Given the description of an element on the screen output the (x, y) to click on. 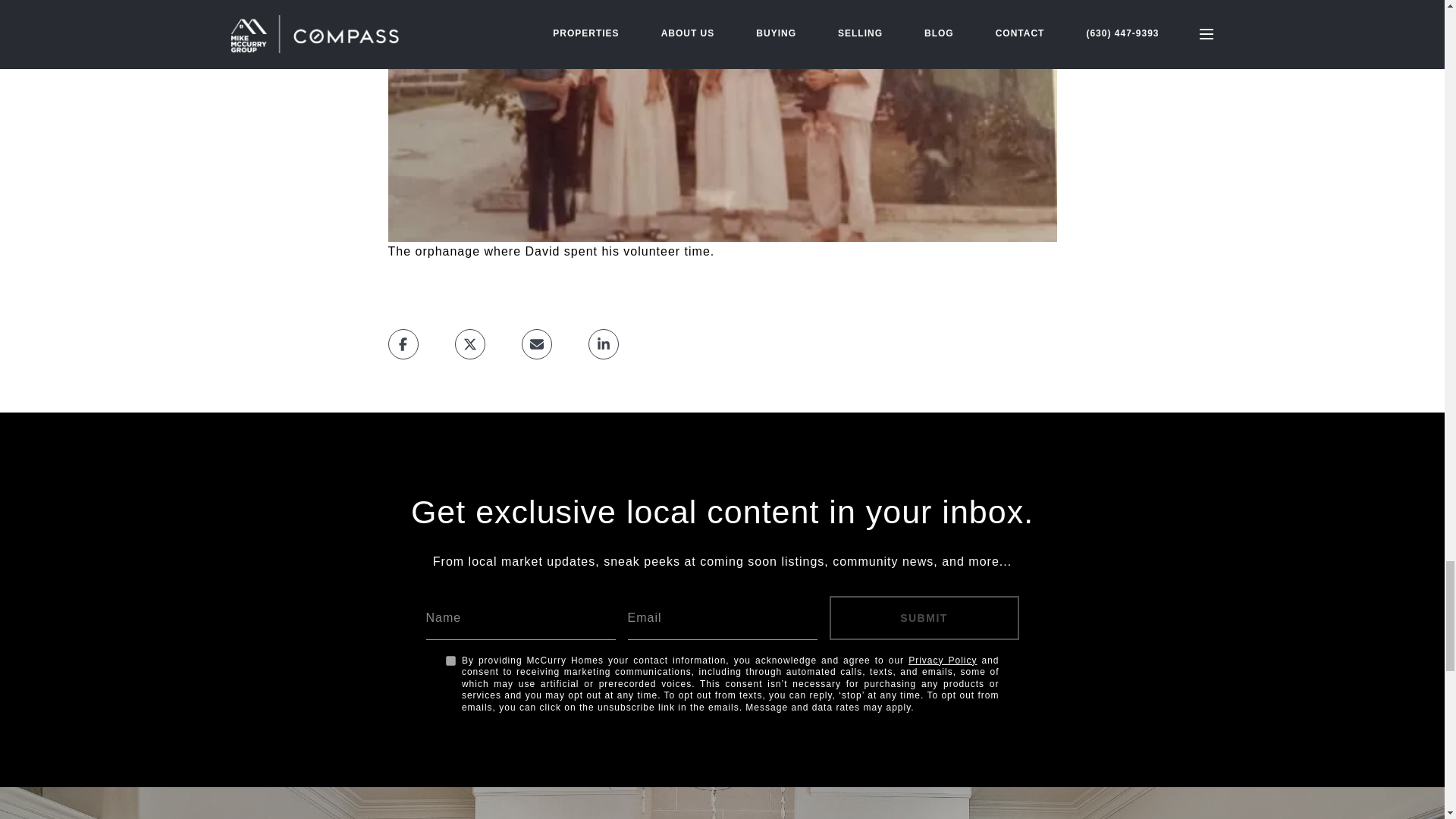
on (450, 660)
